Given the description of an element on the screen output the (x, y) to click on. 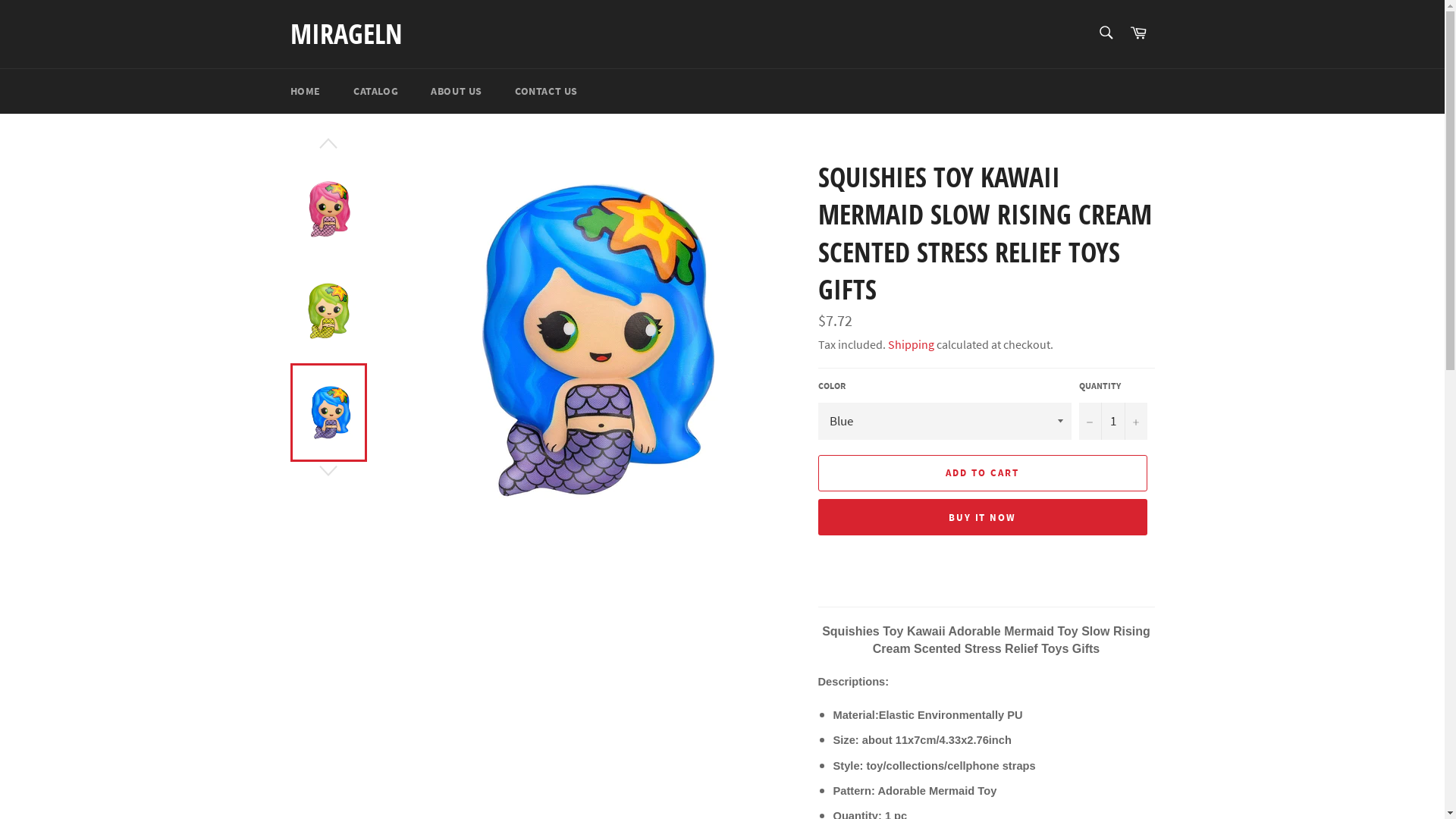
CATALOG Element type: text (375, 90)
CONTACT US Element type: text (546, 90)
MIRAGELN Element type: text (345, 34)
BUY IT NOW Element type: text (981, 516)
ABOUT US Element type: text (456, 90)
Shipping Element type: text (910, 343)
Search Element type: text (1105, 32)
ADD TO CART Element type: text (981, 473)
HOME Element type: text (304, 90)
+ Element type: text (1134, 420)
Cart Element type: text (1138, 33)
